Given the description of an element on the screen output the (x, y) to click on. 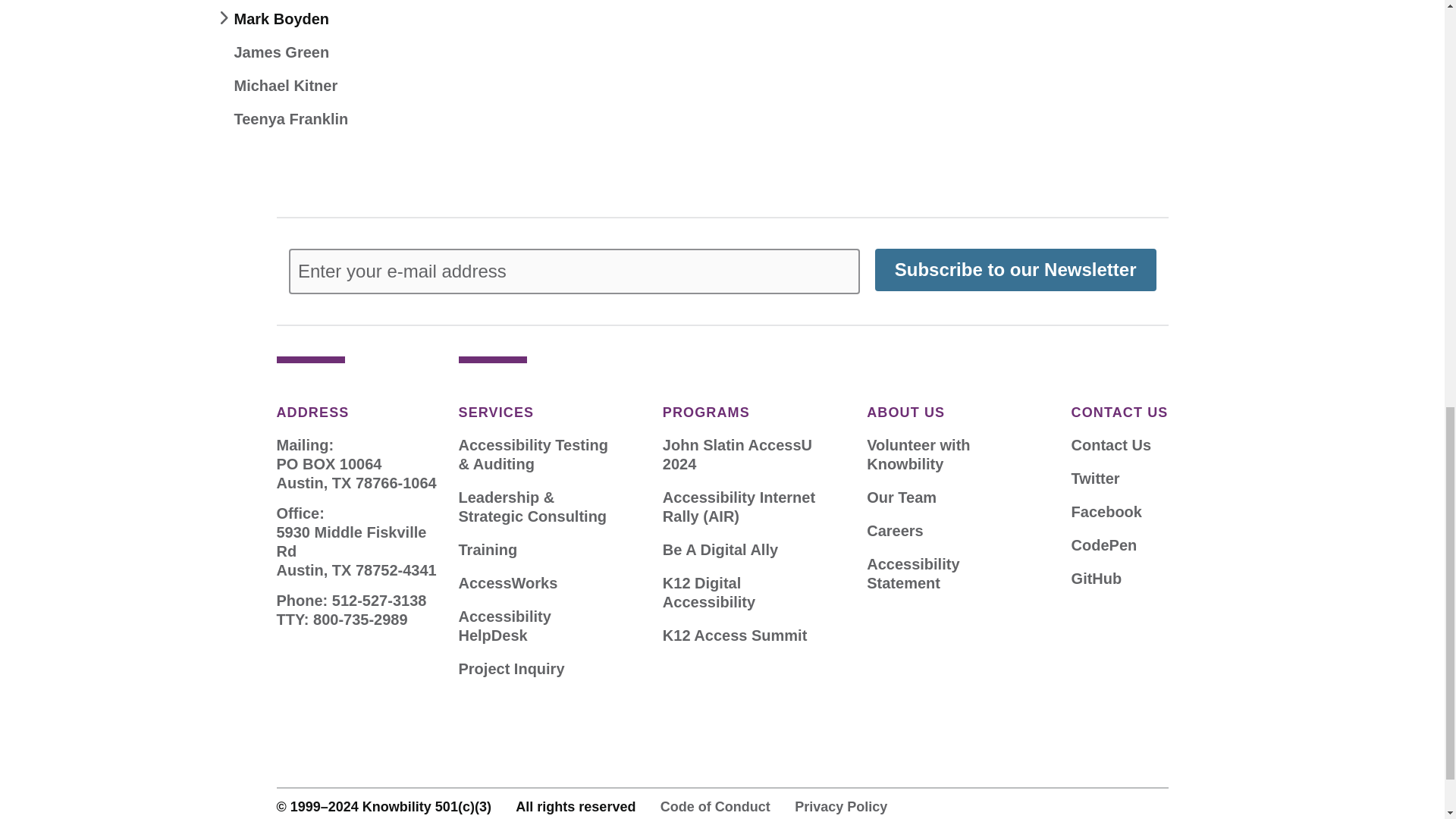
Subscribe to our Newsletter (1015, 269)
Training (487, 549)
K12 Digital Accessibility (744, 592)
Teenya Franklin (289, 118)
Mark Boyden (280, 18)
James Green (280, 52)
Be A Digital Ally (719, 549)
Michael Kitner (284, 85)
Accessibility HelpDesk (539, 626)
John Slatin AccessU 2024 (744, 454)
